Given the description of an element on the screen output the (x, y) to click on. 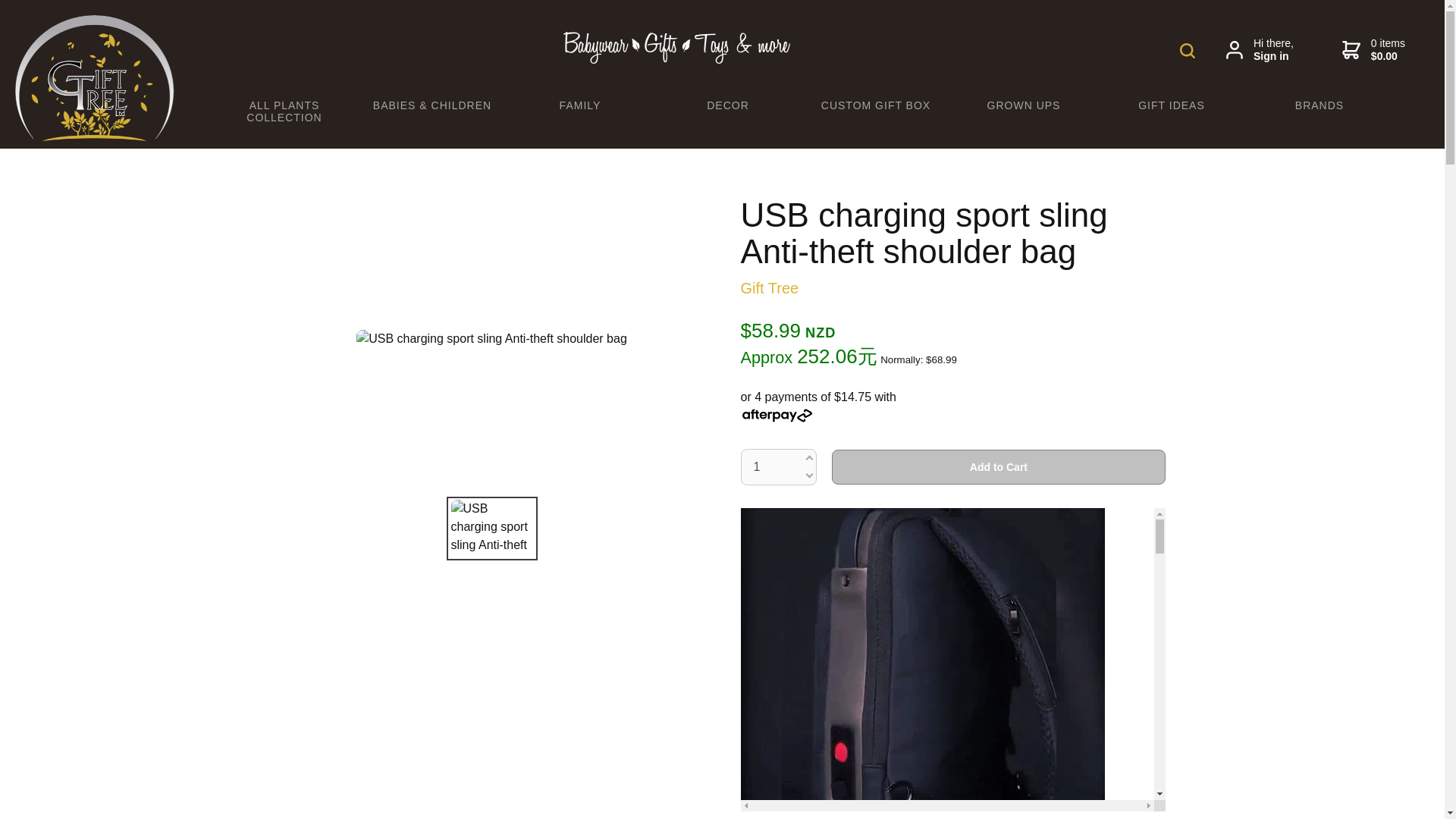
Returning customers login (1259, 49)
1 (777, 466)
Babyware - Gifts - Toys and more... (94, 136)
ALL PLANTS COLLECTION (284, 111)
